Given the description of an element on the screen output the (x, y) to click on. 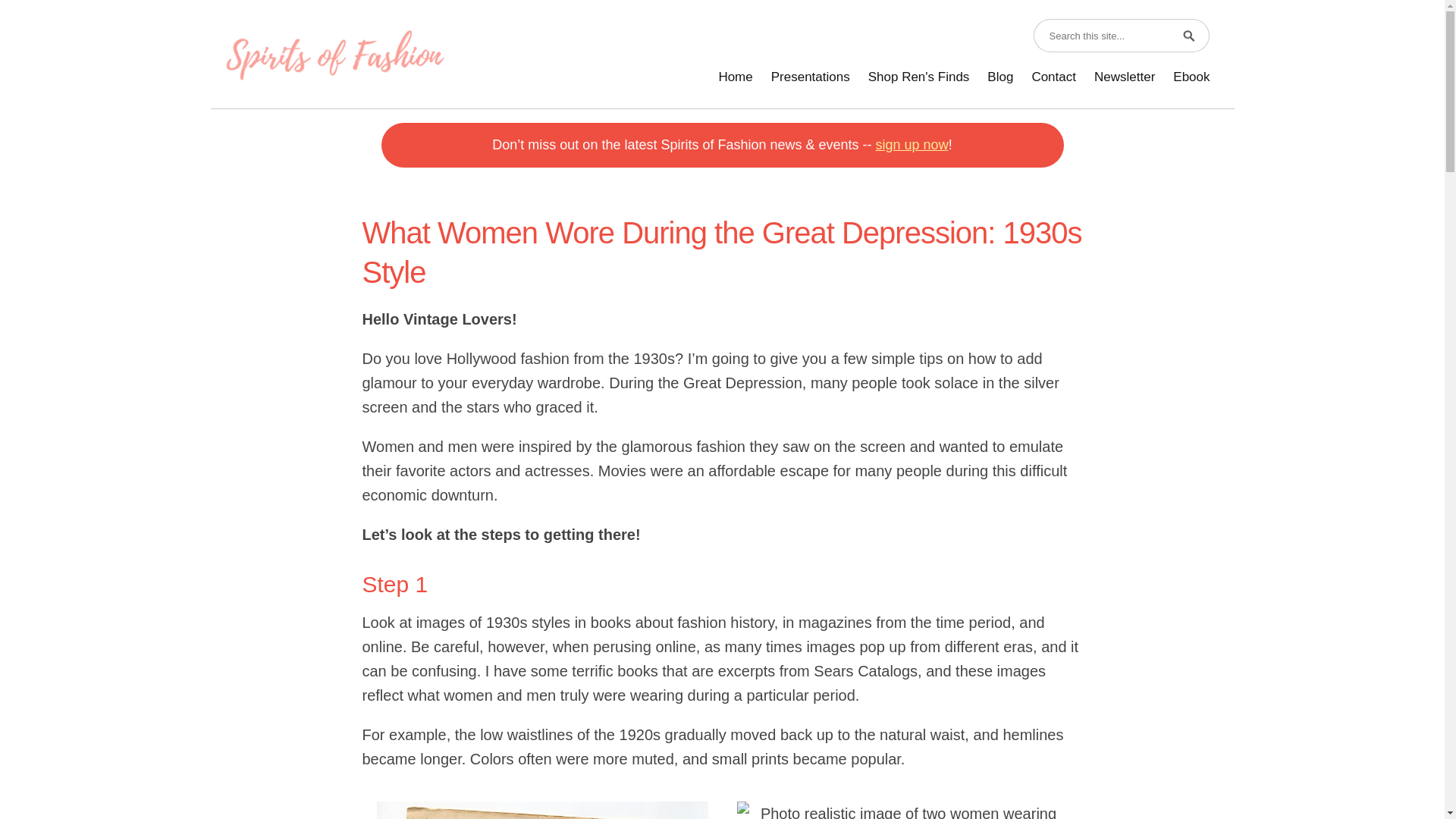
Contact (1053, 77)
Ebook (1190, 77)
Shop Ren's Finds (918, 77)
Presentations (810, 77)
sign up now (912, 144)
Newsletter (1123, 77)
Blog (1000, 77)
Home (735, 77)
MY WEBSITE (334, 55)
